Given the description of an element on the screen output the (x, y) to click on. 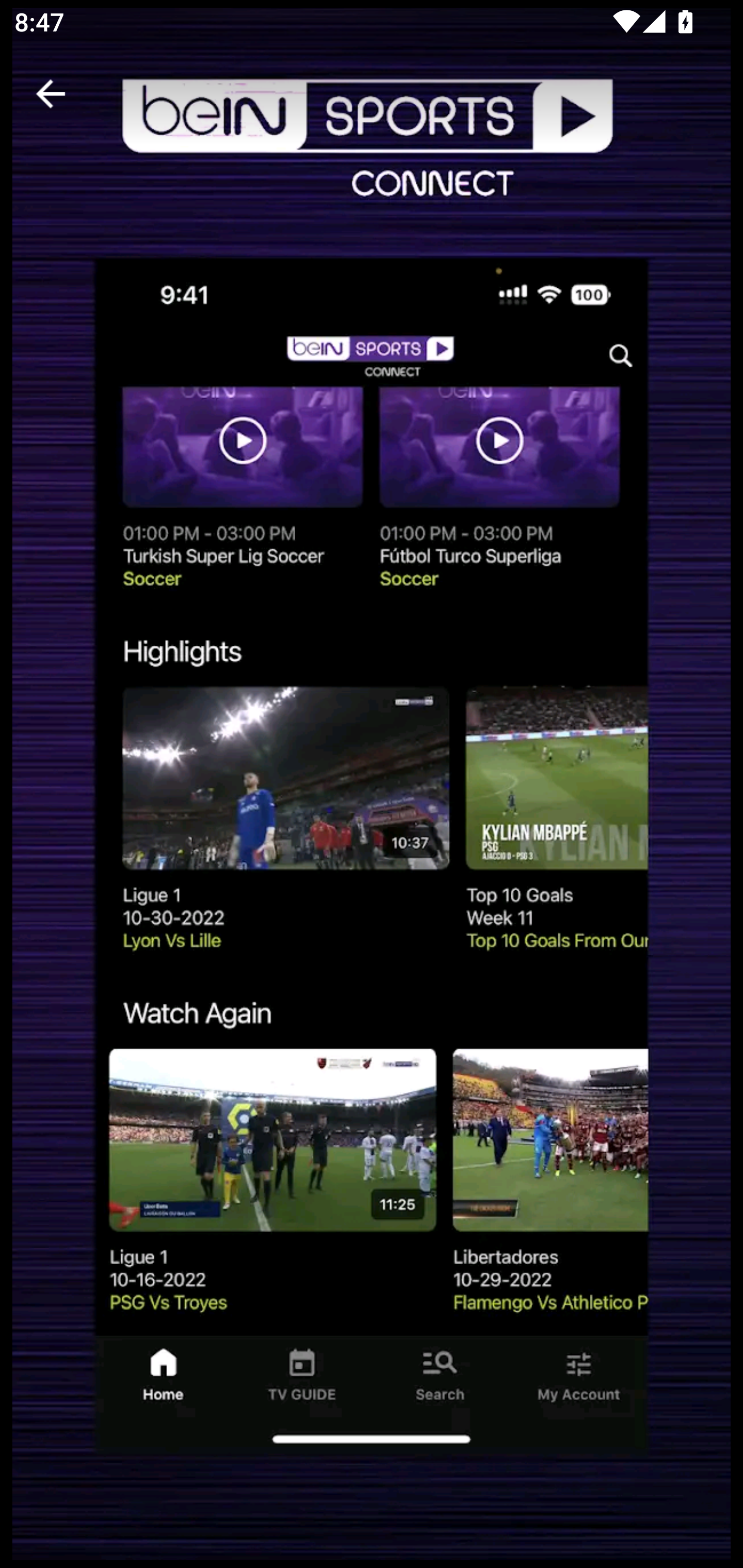
Back (50, 93)
